Given the description of an element on the screen output the (x, y) to click on. 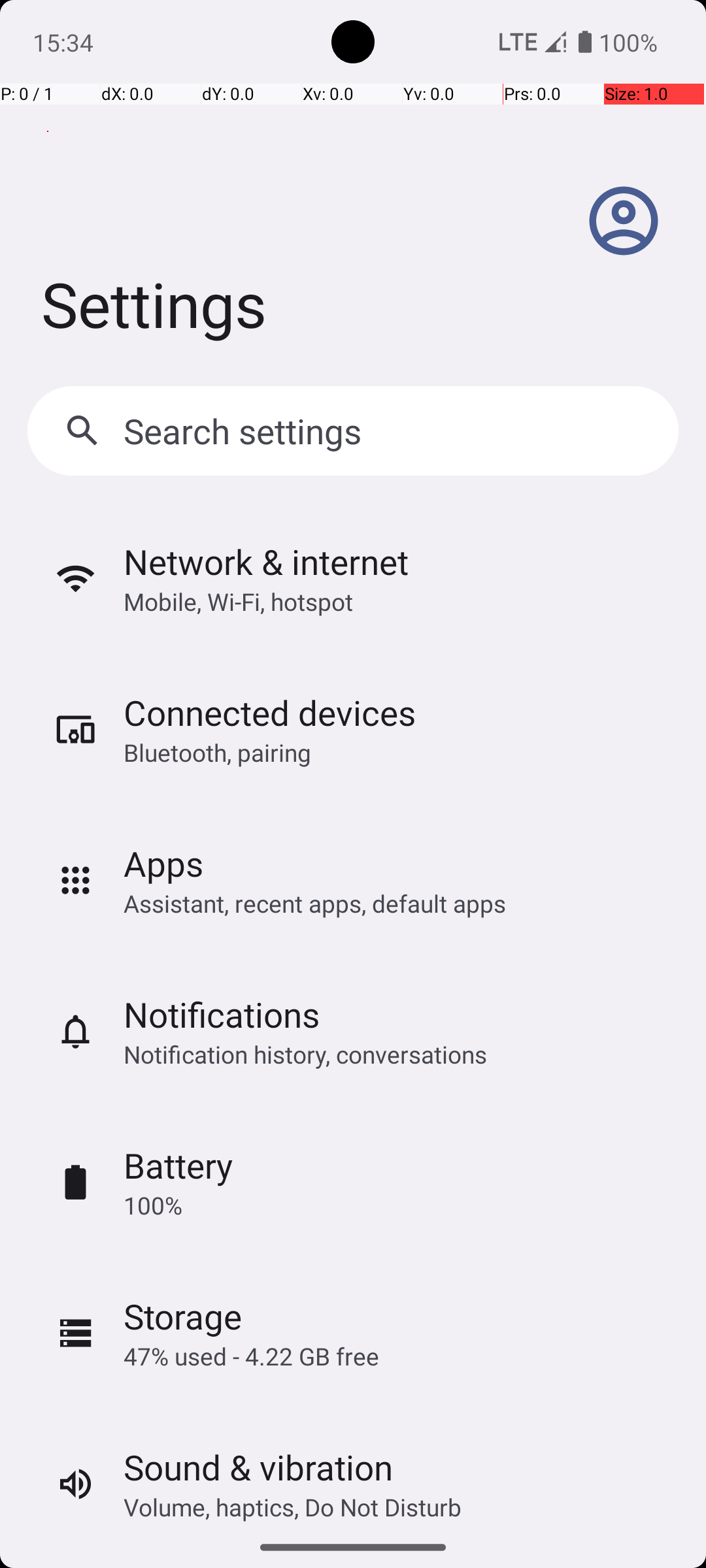
47% used - 4.22 GB free Element type: android.widget.TextView (251, 1355)
